Given the description of an element on the screen output the (x, y) to click on. 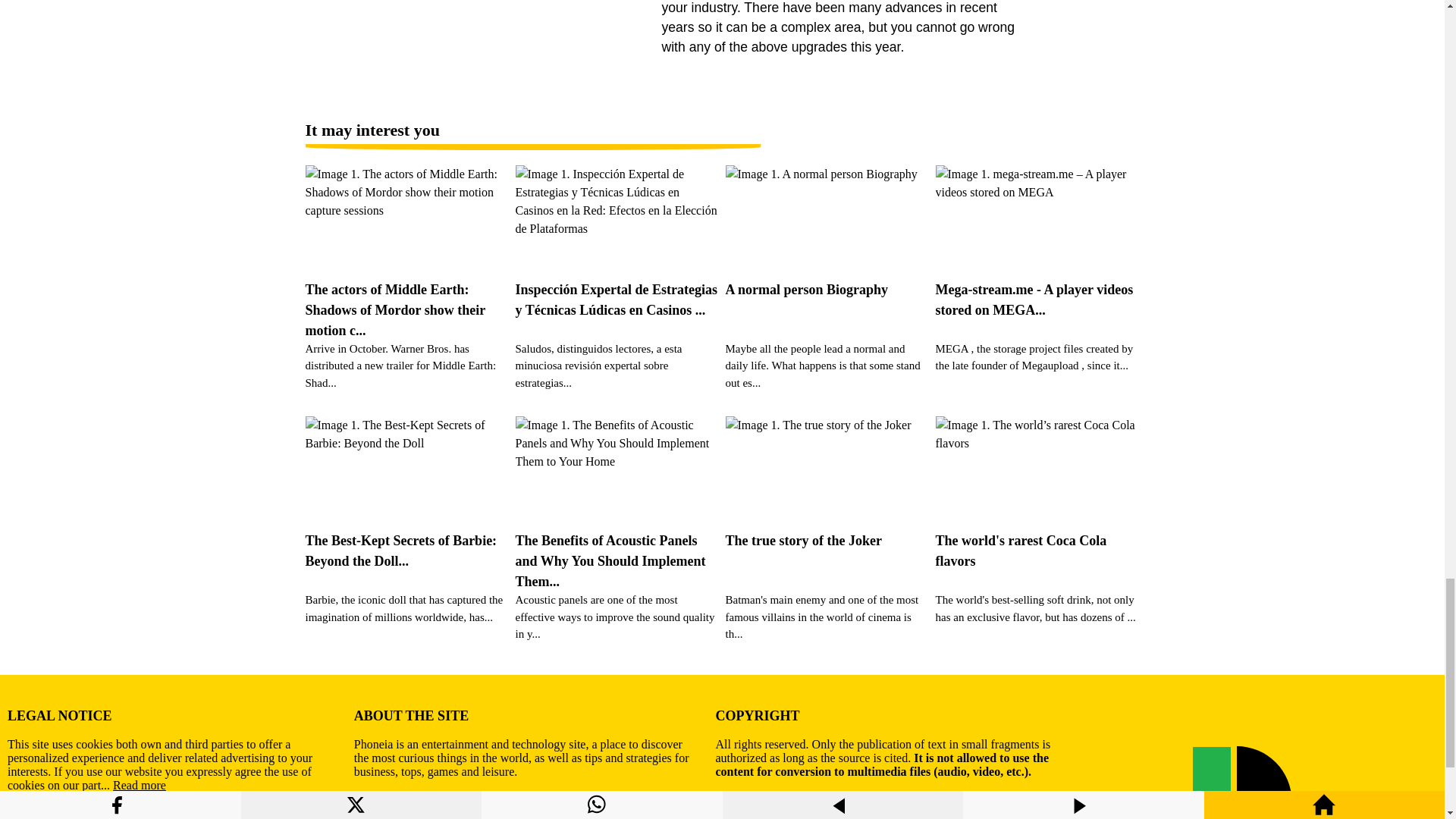
Mega-stream.me - A player videos stored on MEGA... (1038, 252)
The Best-Kept Secrets of Barbie: Beyond the Doll... (406, 503)
Read more (139, 784)
A normal person Biography (826, 252)
The world's rarest Coca Cola flavors (1038, 503)
The true story of the Joker (826, 503)
